Given the description of an element on the screen output the (x, y) to click on. 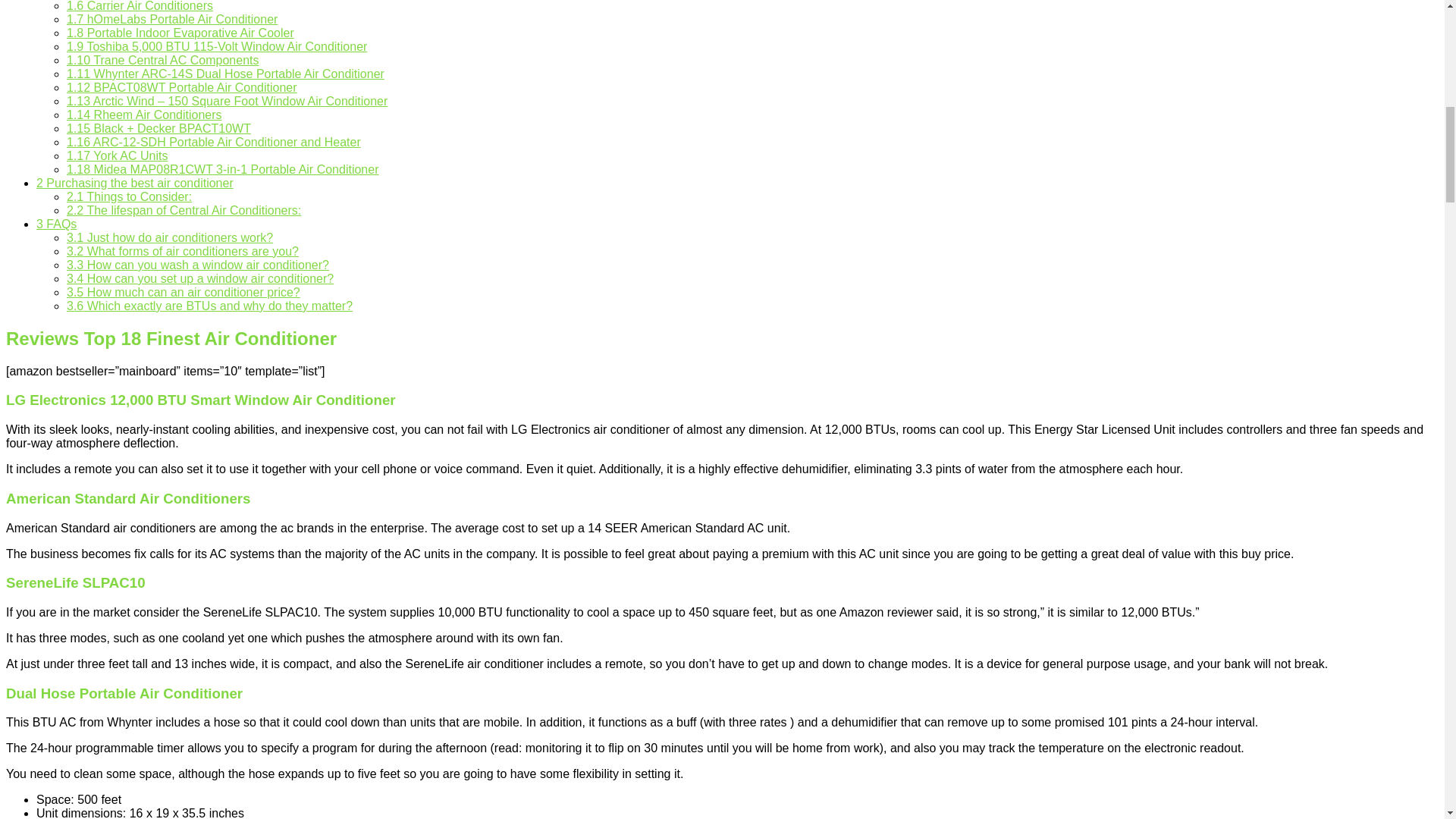
1.8 Portable Indoor Evaporative Air Cooler (180, 32)
2.2 The lifespan of Central Air Conditioners: (183, 210)
3 FAQs (56, 223)
1.18 Midea MAP08R1CWT 3-in-1 Portable Air Conditioner (222, 169)
1.11 Whynter ARC-14S Dual Hose Portable Air Conditioner (225, 73)
1.10 Trane Central AC Components (162, 60)
1.7 hOmeLabs Portable Air Conditioner (172, 19)
1.12 BPACT08WT Portable Air Conditioner (181, 87)
3.1 Just how do air conditioners work? (169, 237)
3.3 How can you wash a window air conditioner? (197, 264)
3.2 What forms of air conditioners are you? (182, 250)
1.14 Rheem Air Conditioners (144, 114)
2 Purchasing the best air conditioner (134, 182)
1.6 Carrier Air Conditioners (139, 6)
1.17 York AC Units (116, 155)
